Given the description of an element on the screen output the (x, y) to click on. 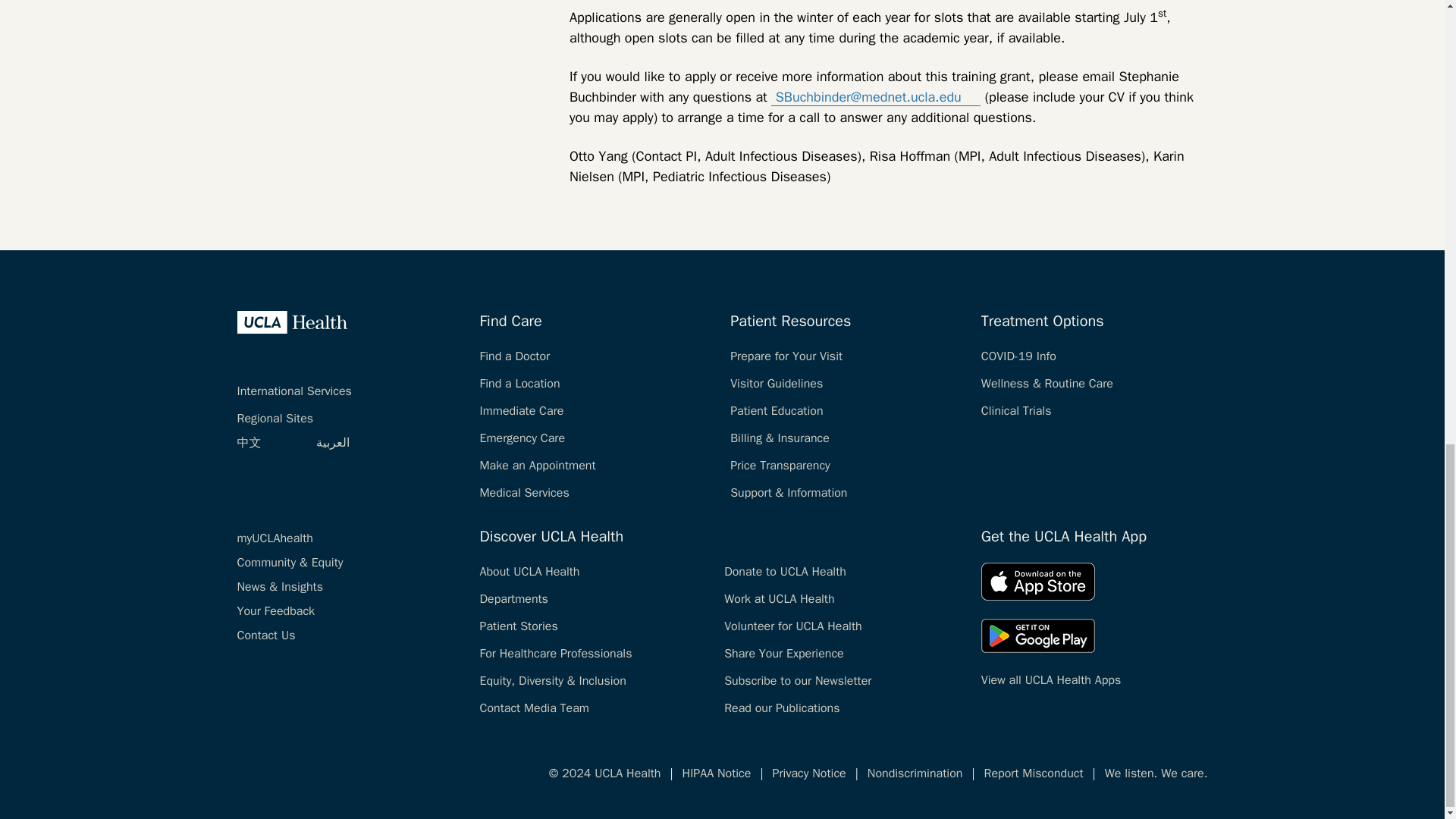
myUCLAhealth Login. (274, 538)
Link sends email (969, 94)
